Given the description of an element on the screen output the (x, y) to click on. 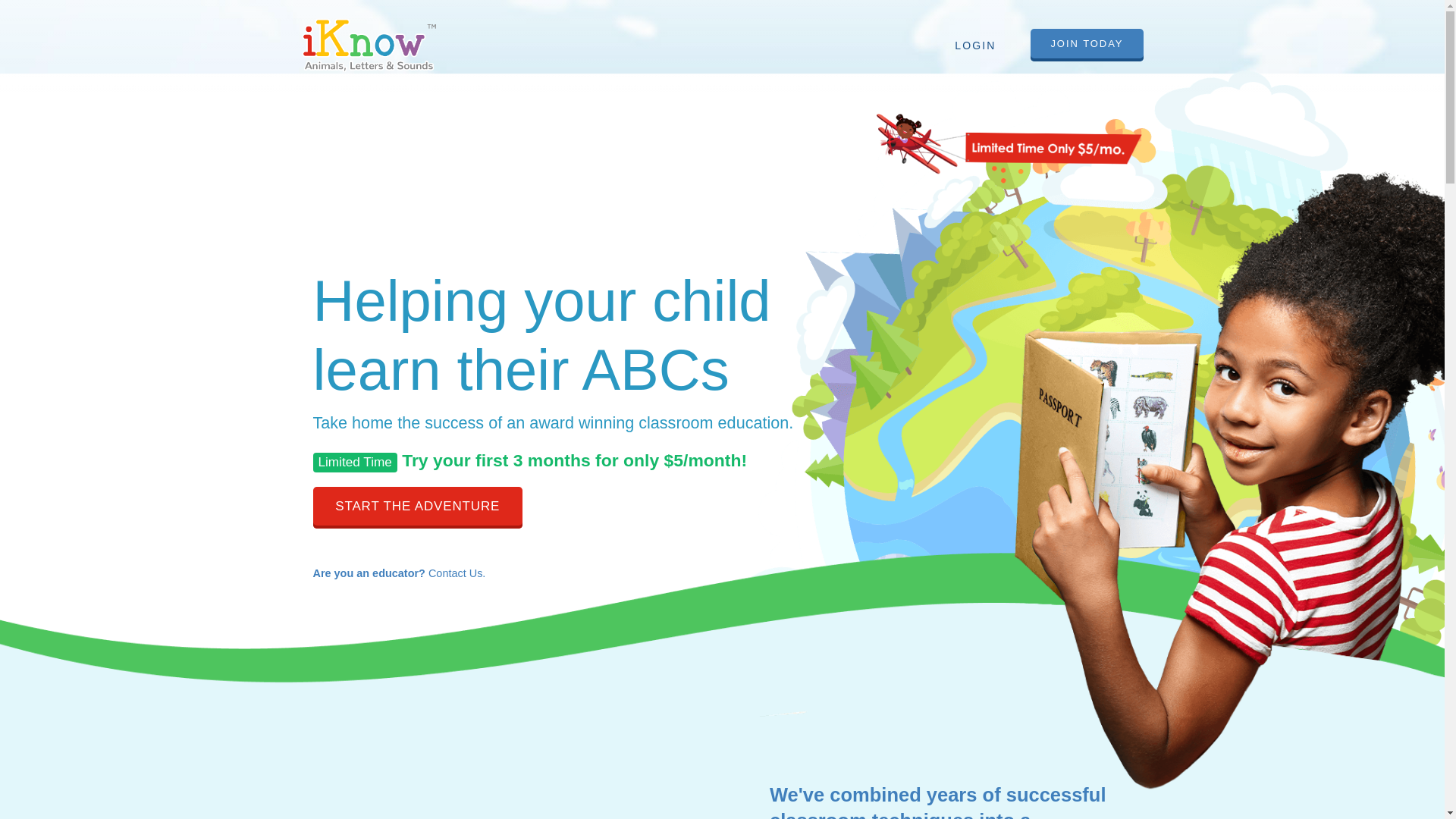
Are you an educator? Contact Us. (581, 573)
START THE ADVENTURE (417, 507)
LOGIN (974, 45)
JOIN TODAY (1086, 44)
